Given the description of an element on the screen output the (x, y) to click on. 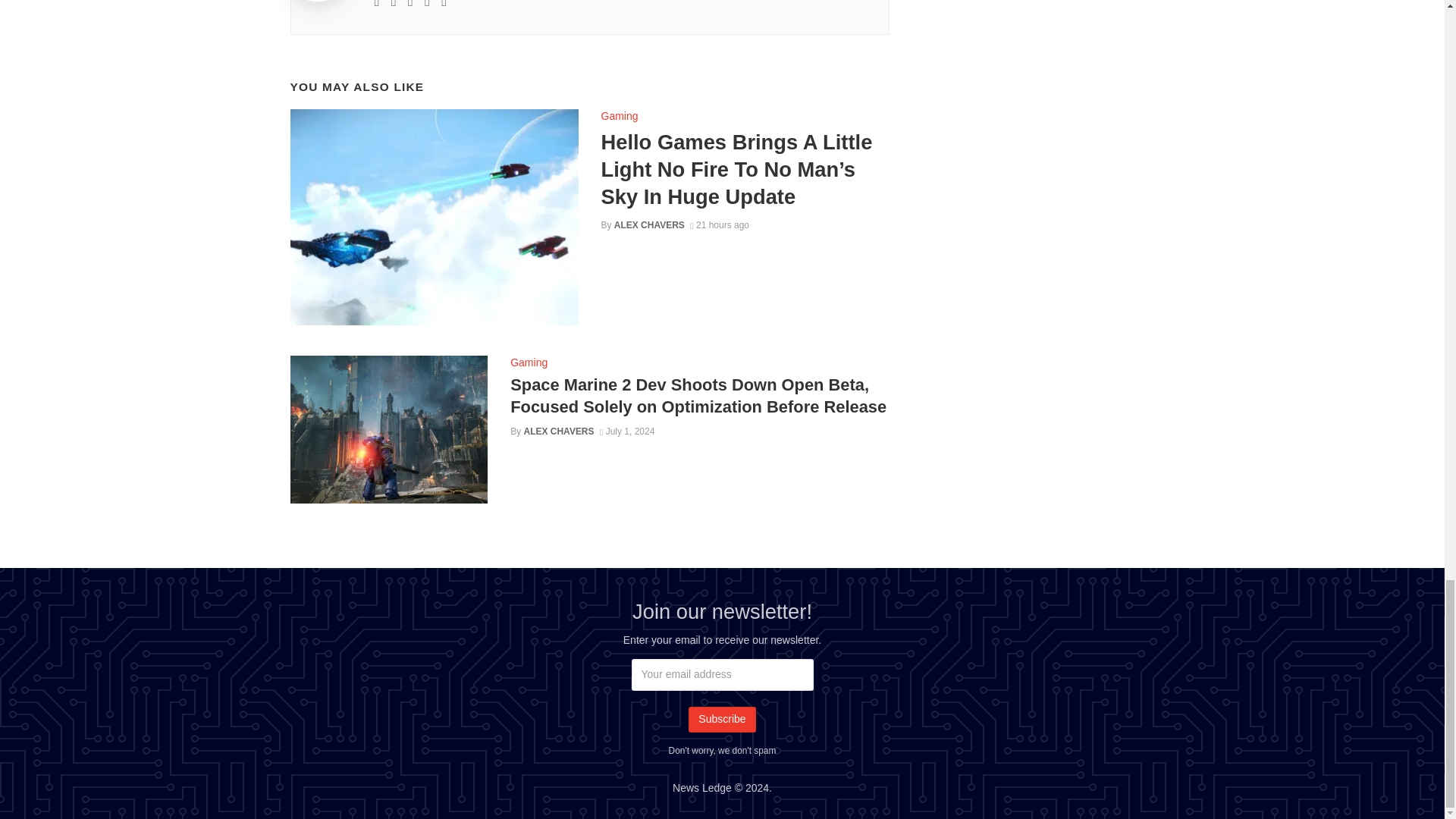
ALEX CHAVERS (649, 225)
Gaming (529, 362)
ALEX CHAVERS (559, 430)
Subscribe (721, 719)
July 1, 2024 at 1:13 pm (627, 430)
Gaming (618, 115)
Twitter (410, 5)
July 17, 2024 at 11:39 am (719, 225)
e-mail (377, 5)
Website (393, 5)
Subscribe (721, 719)
Facebook (443, 5)
